Given the description of an element on the screen output the (x, y) to click on. 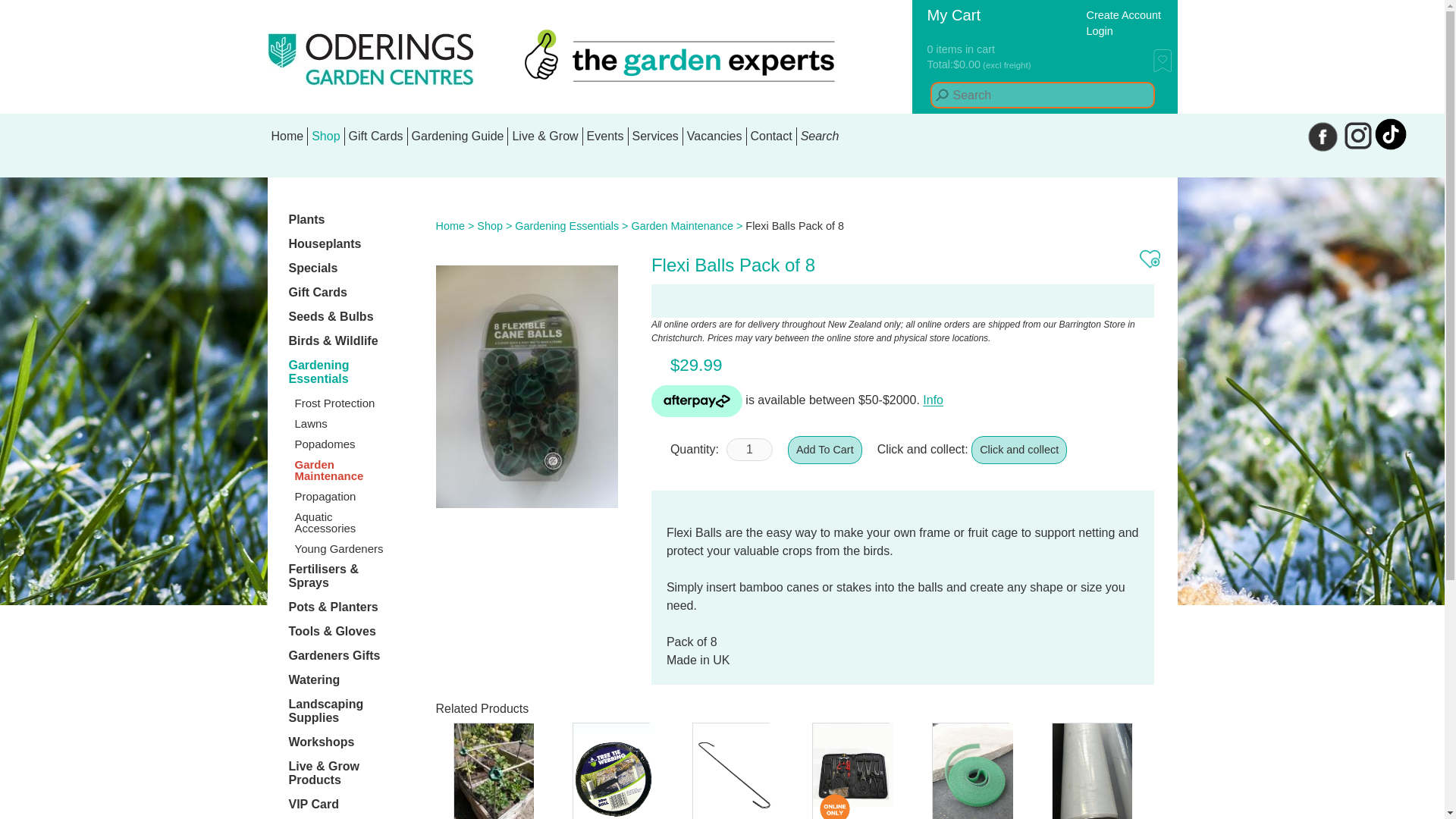
GO (941, 95)
Login using your account details (1099, 31)
1 (749, 449)
garden store (325, 136)
Shop (325, 136)
Create a new account to store your settings (1123, 15)
Home (286, 136)
Login (1099, 31)
Create Account (1123, 15)
